Given the description of an element on the screen output the (x, y) to click on. 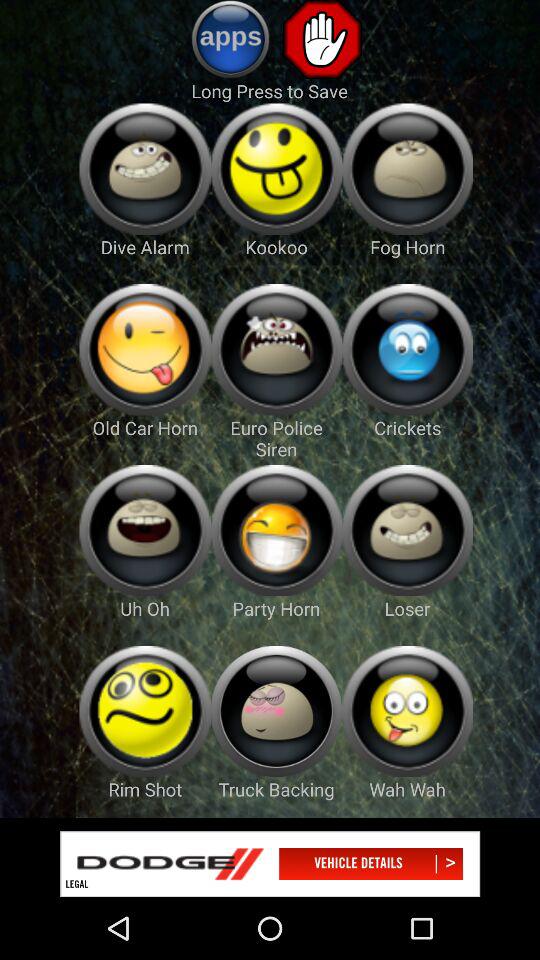
icone button (407, 530)
